Given the description of an element on the screen output the (x, y) to click on. 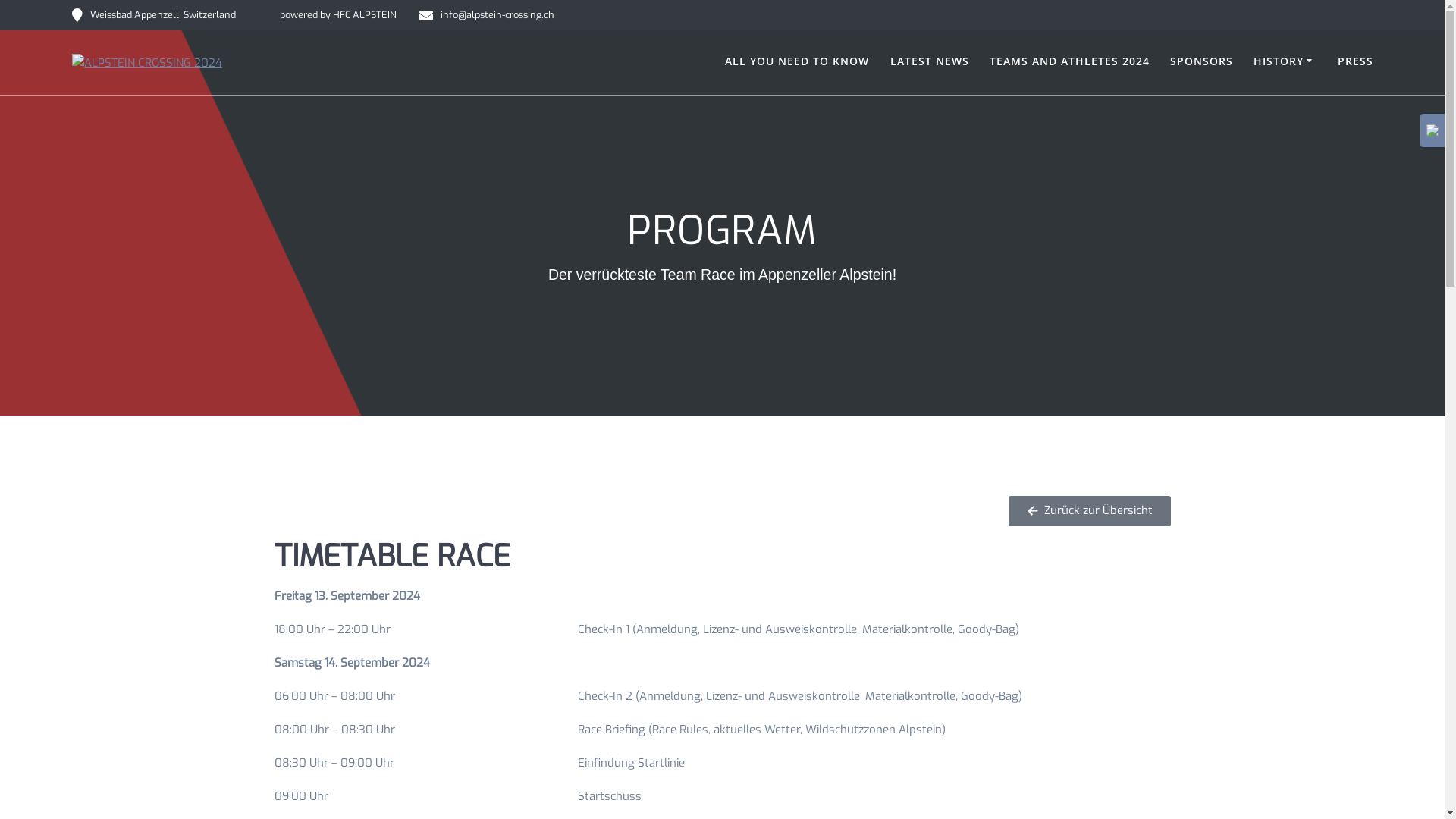
Deutsch Element type: hover (1432, 130)
TEAMS AND ATHLETES 2024 Element type: text (1069, 62)
SPONSORS Element type: text (1201, 62)
ALL YOU NEED TO KNOW Element type: text (796, 62)
LATEST NEWS Element type: text (929, 62)
PRESS Element type: text (1355, 62)
HISTORY Element type: text (1285, 62)
